Given the description of an element on the screen output the (x, y) to click on. 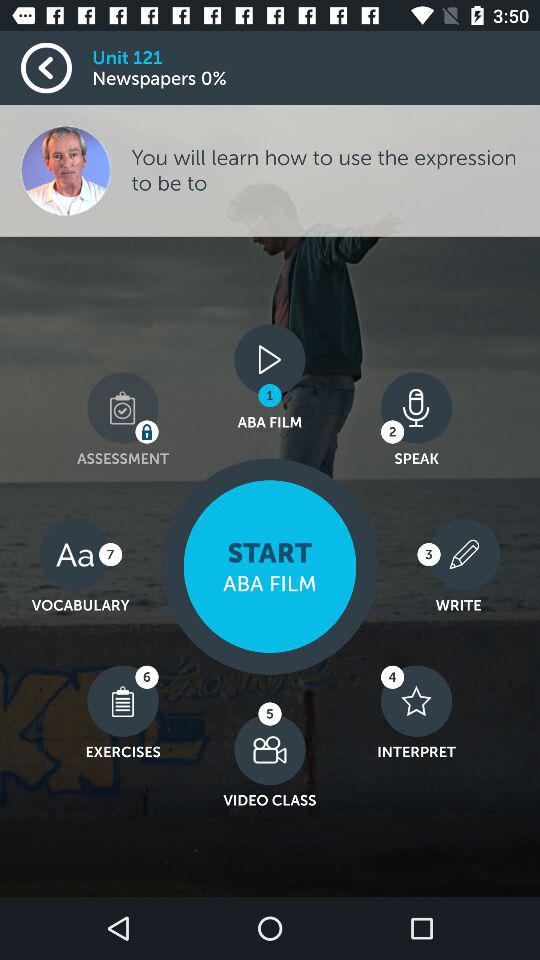
choose the icon below the aba film (269, 566)
